Given the description of an element on the screen output the (x, y) to click on. 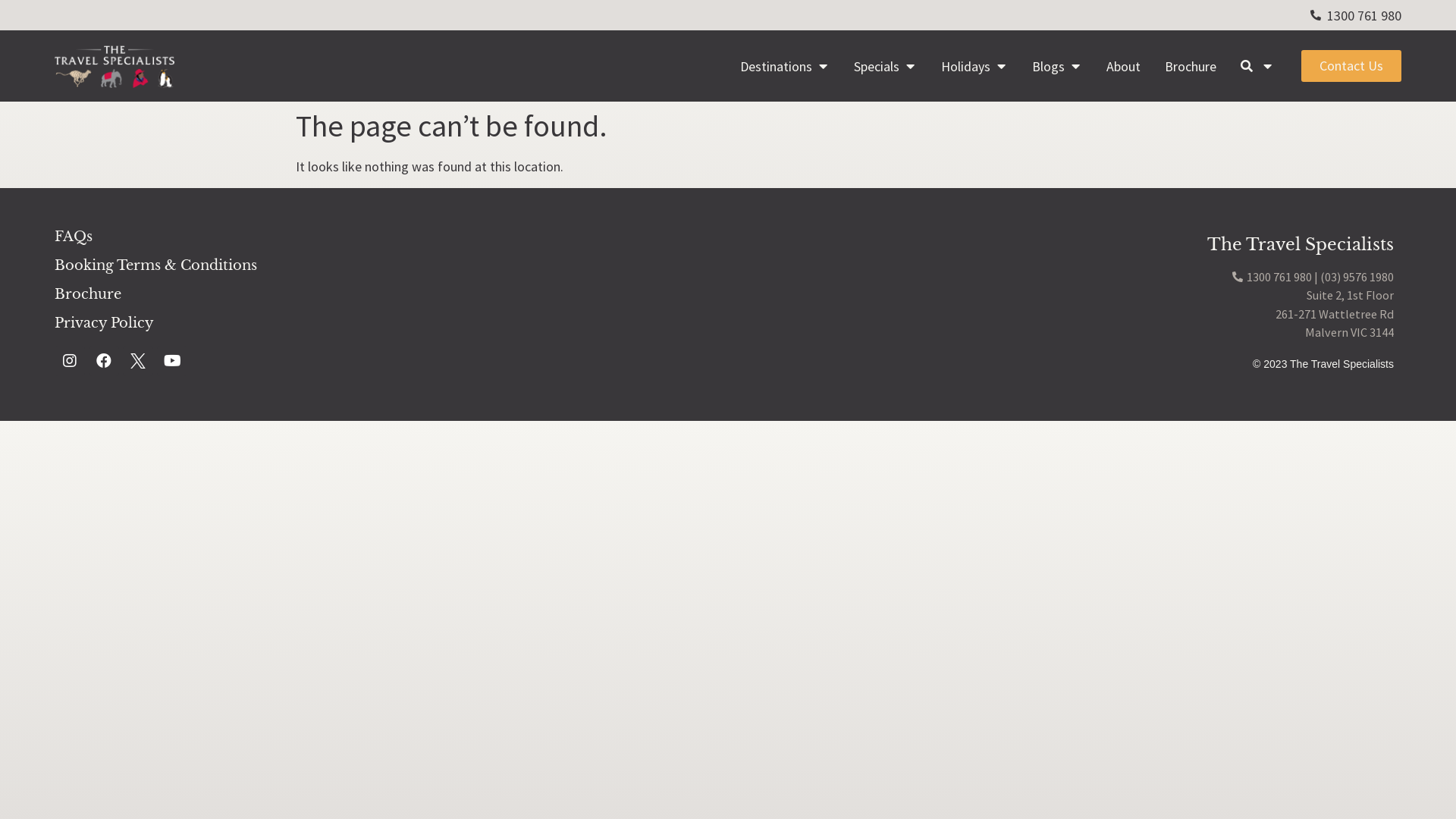
Brochure Element type: text (1190, 66)
Privacy Policy Element type: text (383, 322)
Contact Us Element type: text (1351, 65)
About Element type: text (1123, 66)
FAQs Element type: text (383, 236)
Booking Terms & Conditions Element type: text (383, 265)
Brochure Element type: text (383, 293)
The Travel Specialists Element type: text (1300, 244)
